Given the description of an element on the screen output the (x, y) to click on. 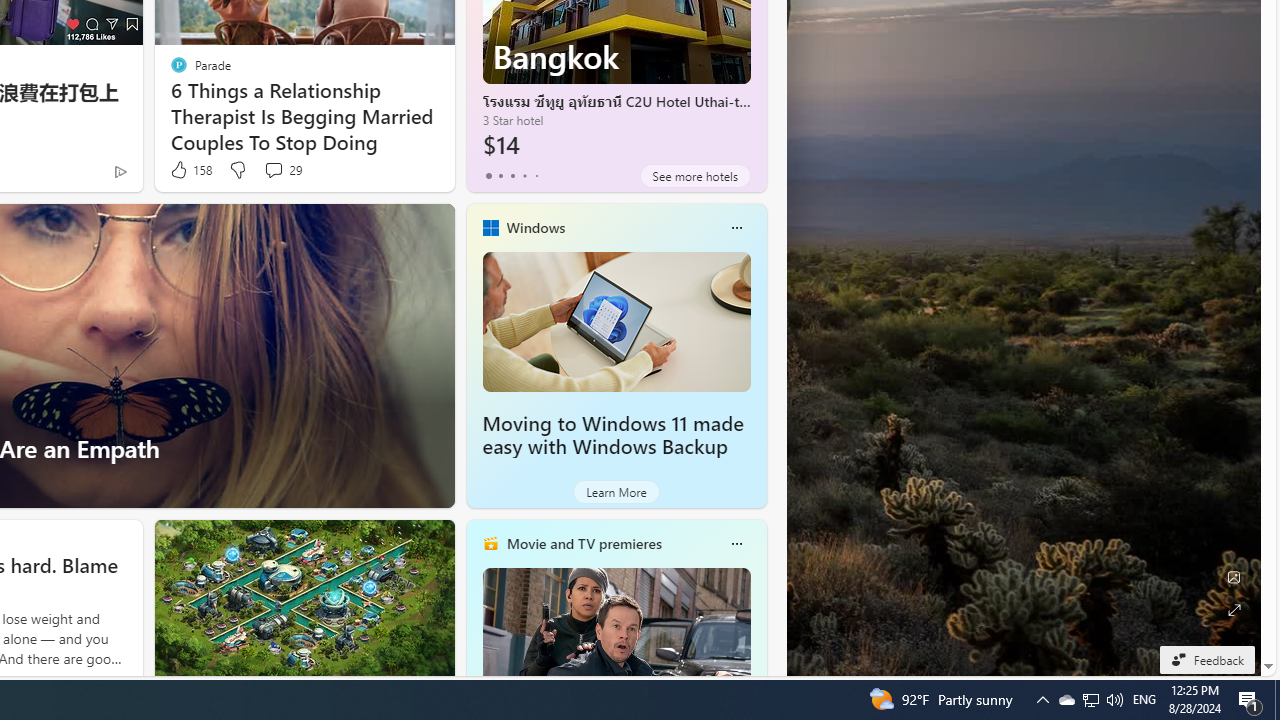
Edit Background (1233, 577)
Movie and TV premieres (583, 543)
tab-2 (511, 175)
View comments 29 Comment (281, 170)
Expand background (1233, 610)
tab-4 (535, 175)
